Given the description of an element on the screen output the (x, y) to click on. 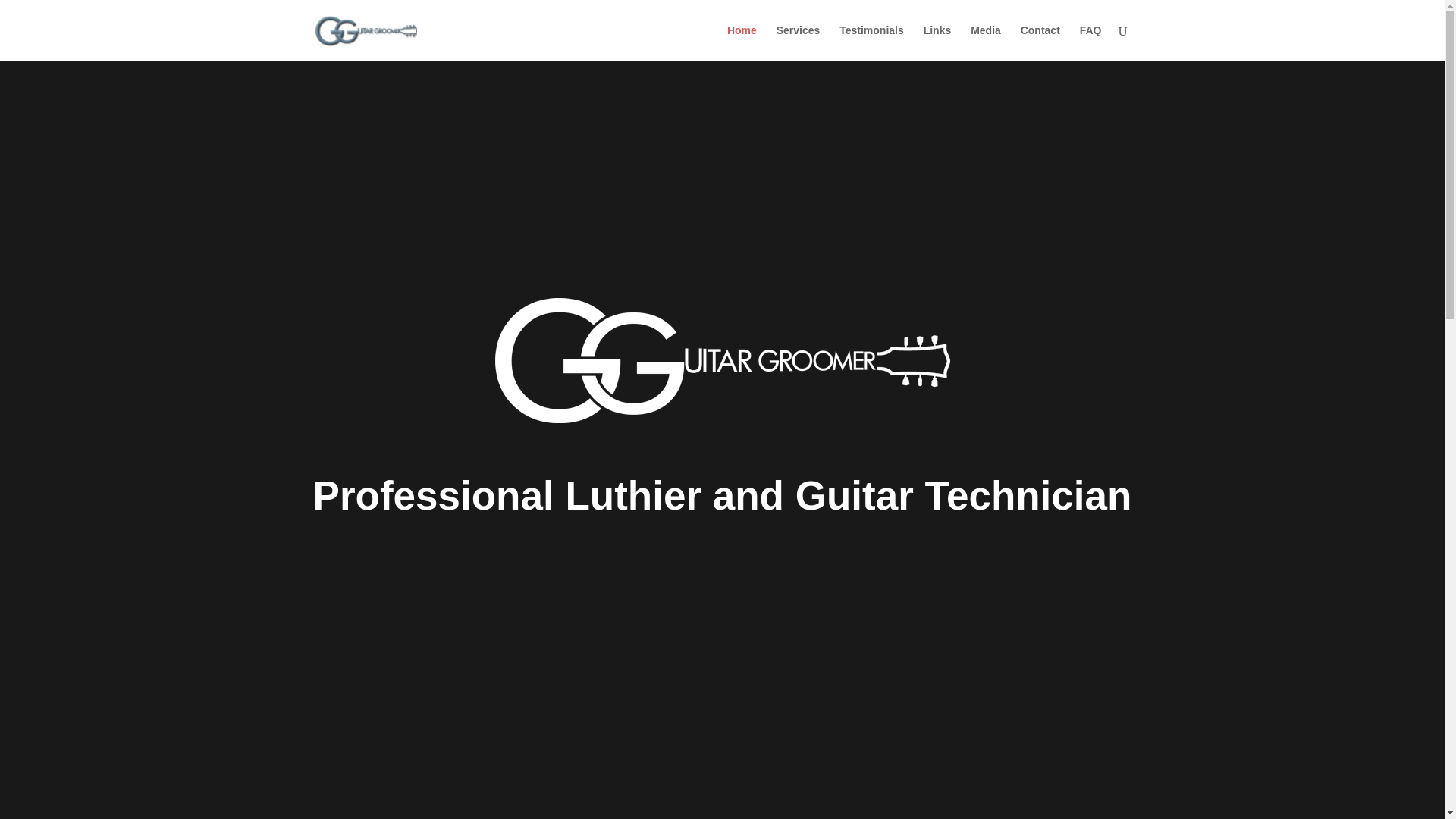
Services (798, 42)
Testimonials (872, 42)
Contact (1039, 42)
